Given the description of an element on the screen output the (x, y) to click on. 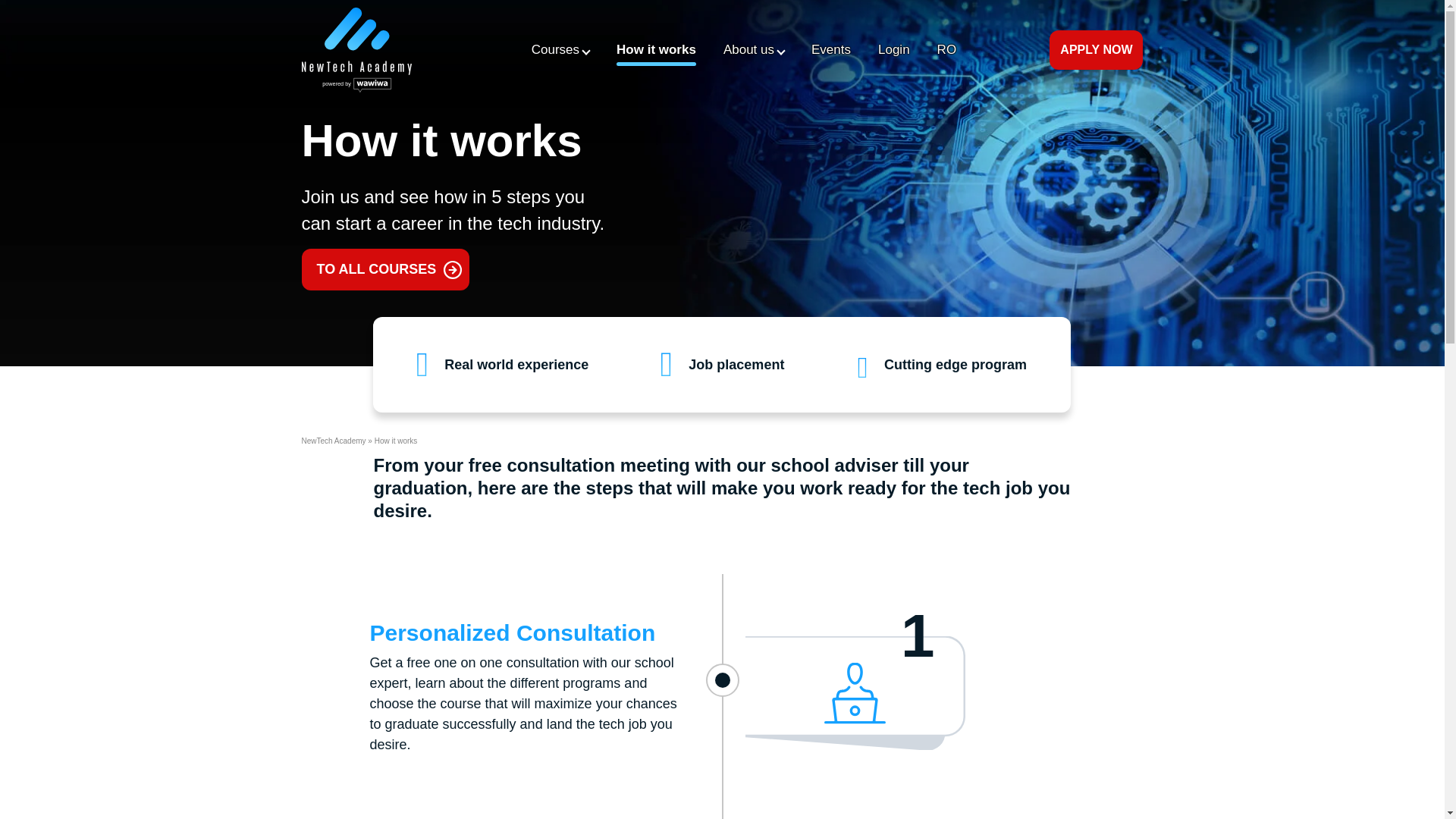
RO (946, 50)
Courses (560, 50)
Events (831, 50)
NewTech Academy (333, 440)
Events (831, 50)
About us (753, 50)
RO (946, 50)
How it works (655, 50)
About us (753, 50)
How it works (655, 50)
